Given the description of an element on the screen output the (x, y) to click on. 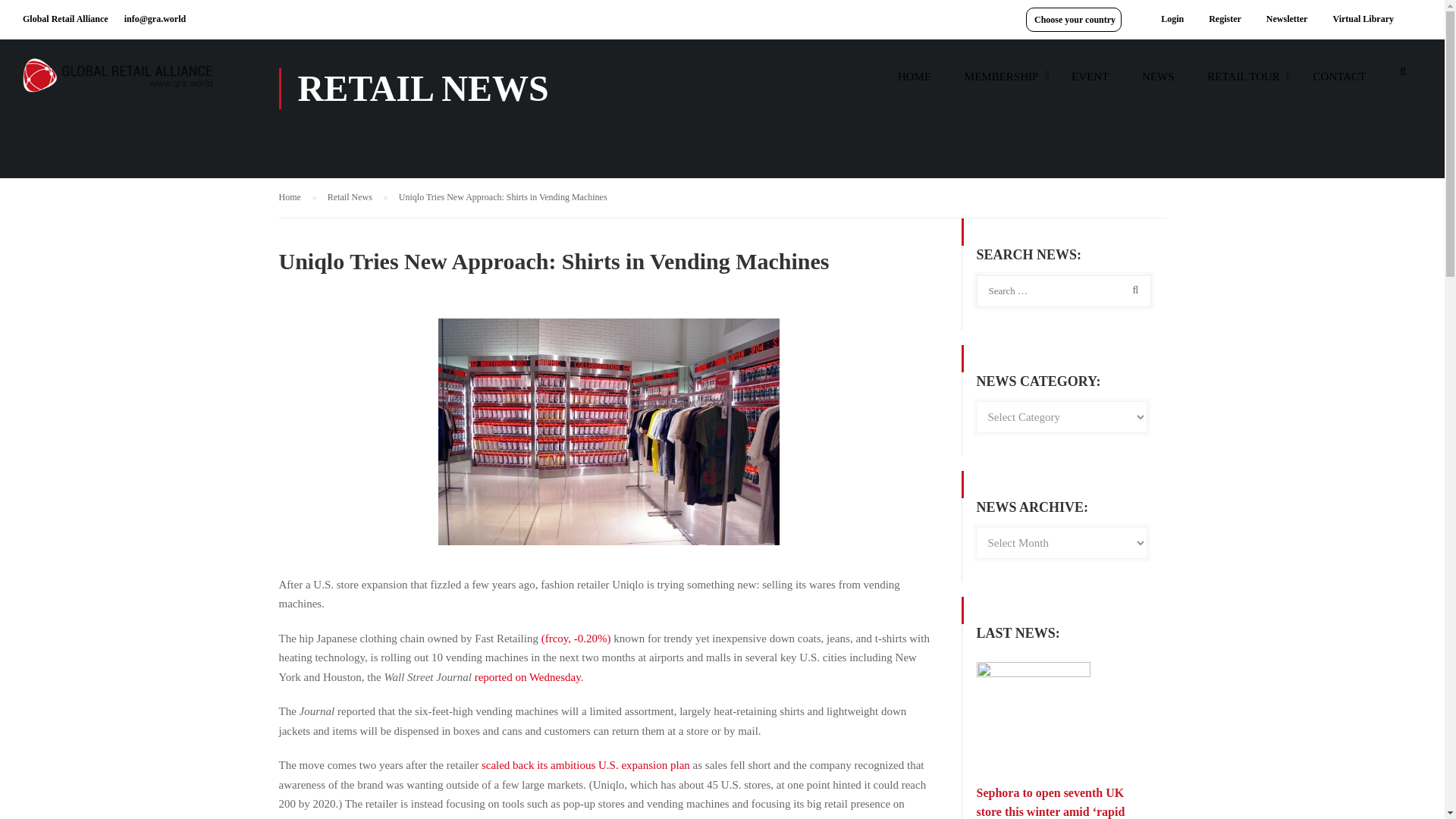
Search (1132, 290)
Home (297, 197)
CONTACT (1339, 83)
HOME (914, 83)
Search (1403, 76)
Login (1172, 18)
Virtual Library (1362, 18)
Search (1132, 290)
GRA - Global Retail Alliance (117, 82)
EVENT (1090, 83)
